Given the description of an element on the screen output the (x, y) to click on. 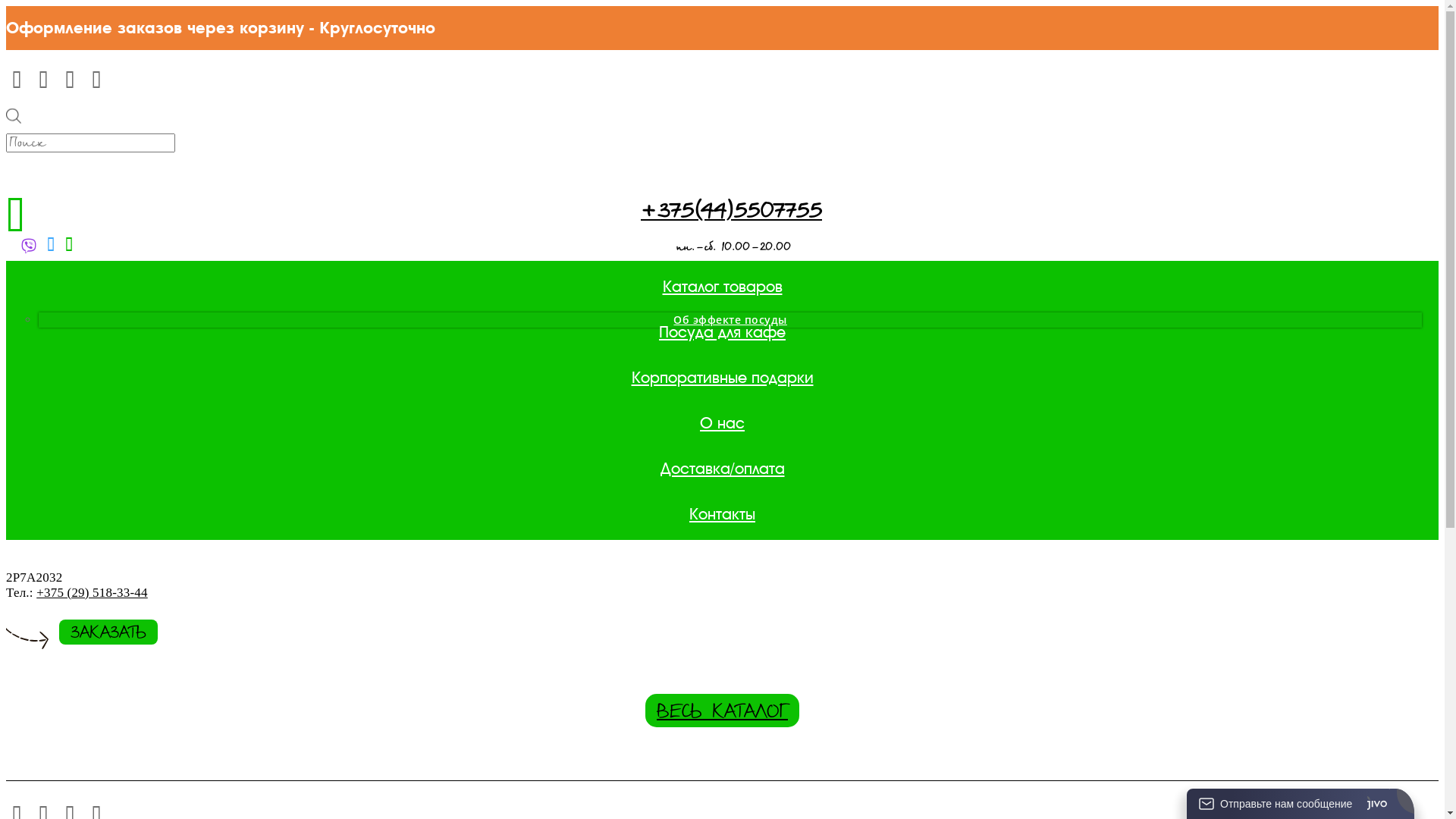
+375 (29) 518-33-44 Element type: text (91, 592)
+375(44)5507755 Element type: text (731, 211)
